Given the description of an element on the screen output the (x, y) to click on. 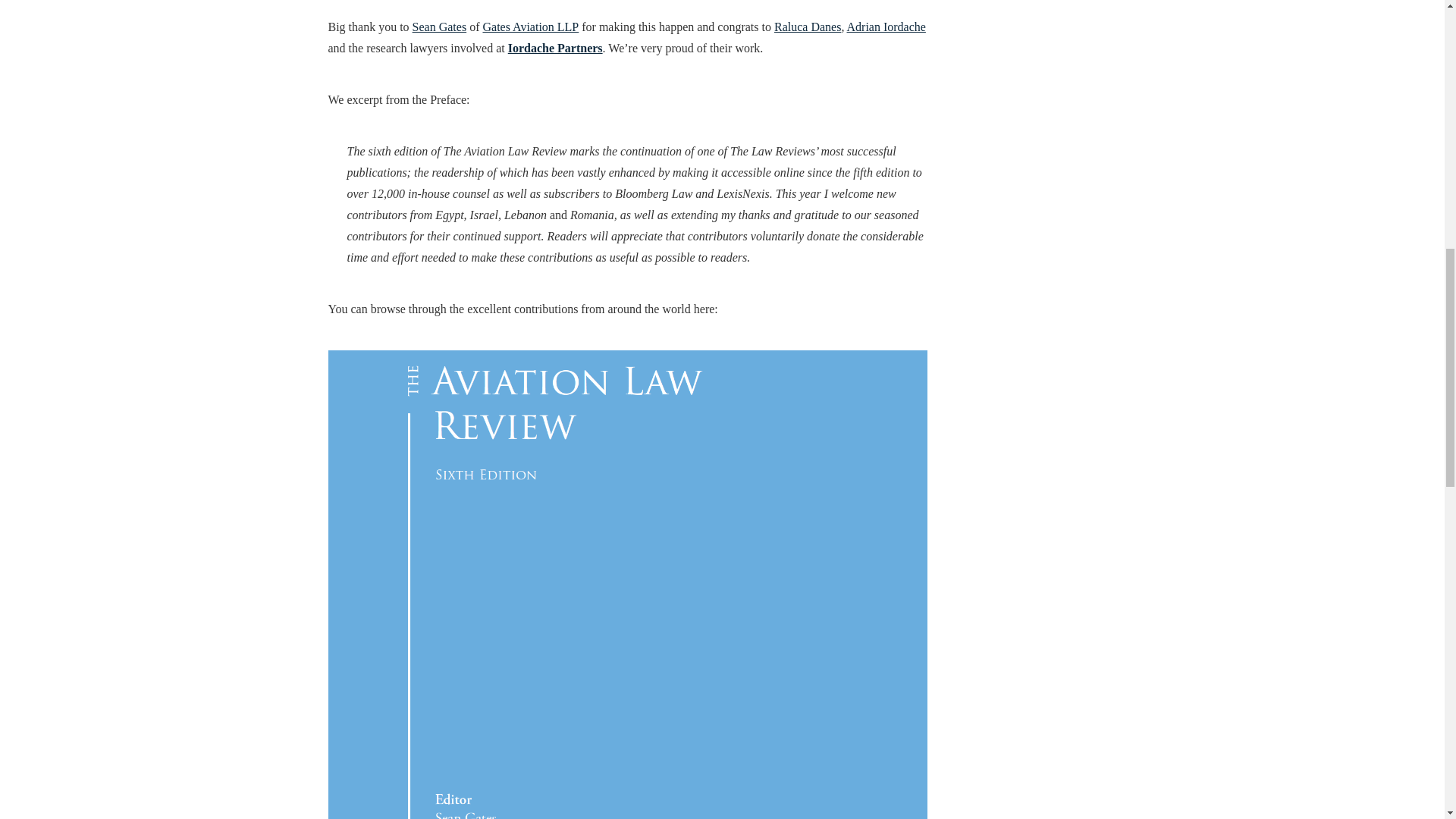
Raluca Danes (807, 26)
Adrian Iordache (886, 26)
Iordache Partners (555, 47)
Gates Aviation LLP (529, 26)
Sean Gates (439, 26)
